Given the description of an element on the screen output the (x, y) to click on. 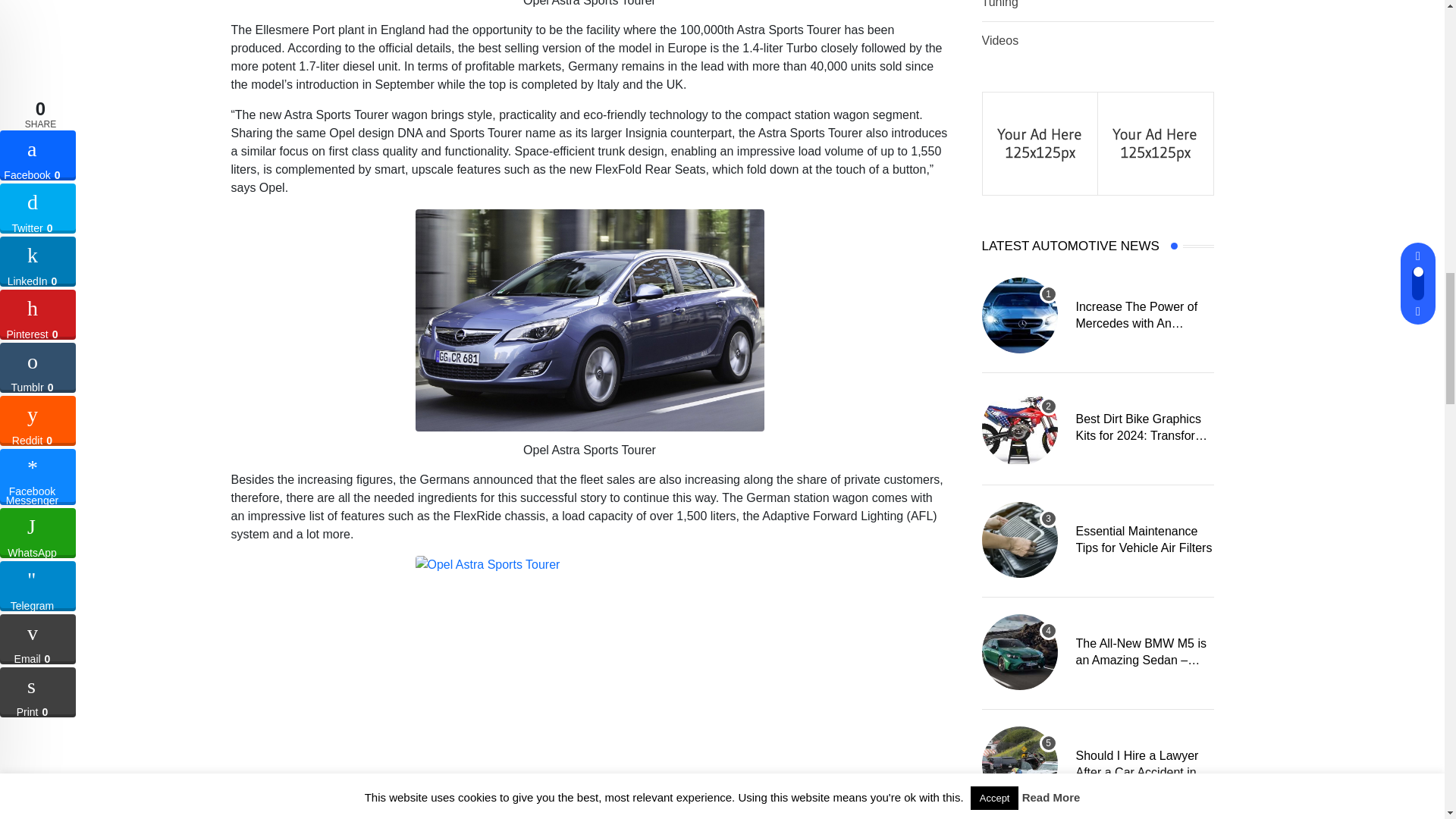
Best Dirt Bike Graphics Kits for 2024: Transform Your Ride (1019, 427)
Advertise (1155, 141)
Increase The Power of Mercedes with An Chiptuning Ecu (1019, 314)
Essential Maintenance Tips for Vehicle Air Filters (1019, 540)
Advertise (1039, 141)
